Given the description of an element on the screen output the (x, y) to click on. 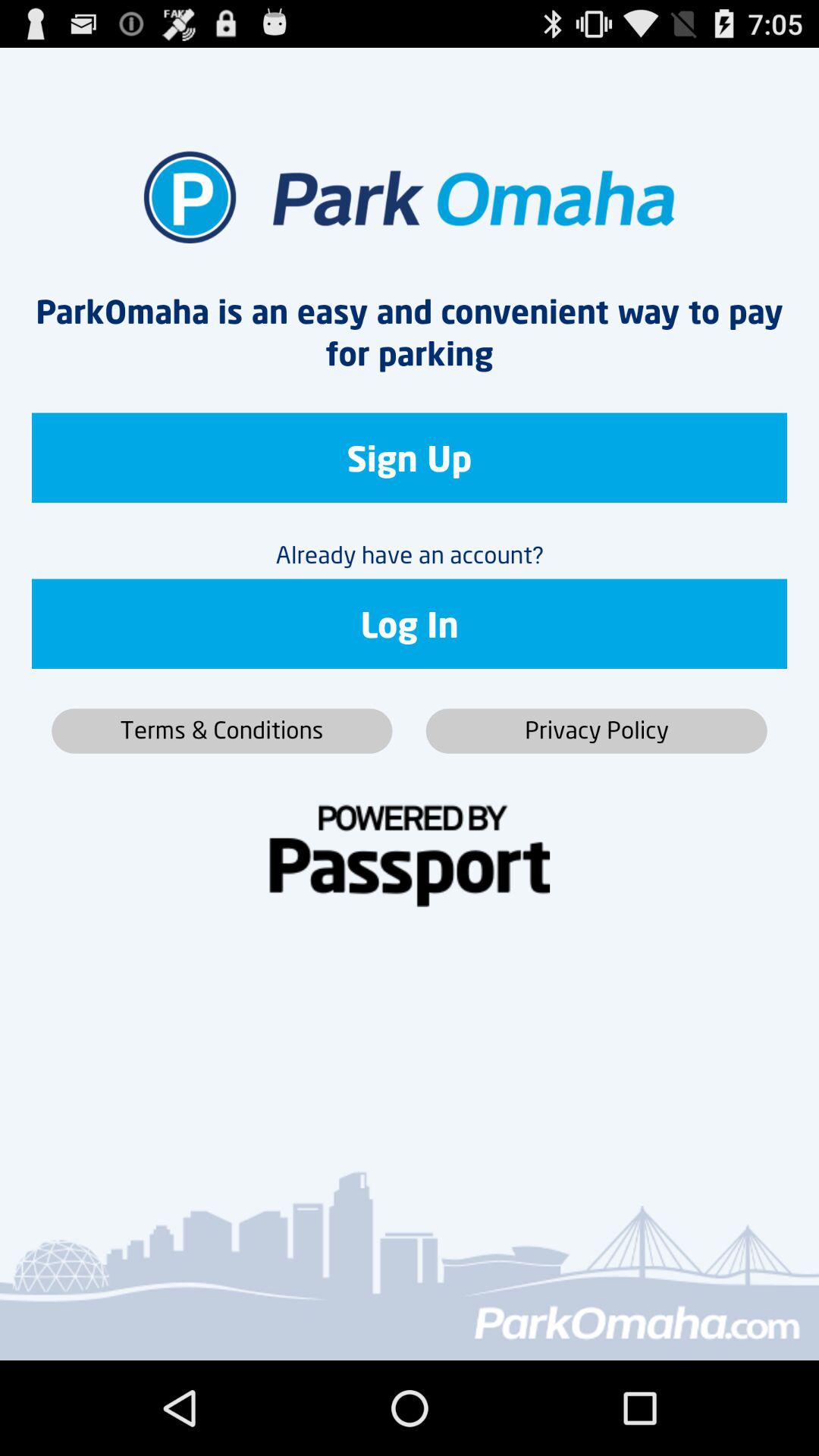
turn on the terms & conditions item (221, 730)
